Given the description of an element on the screen output the (x, y) to click on. 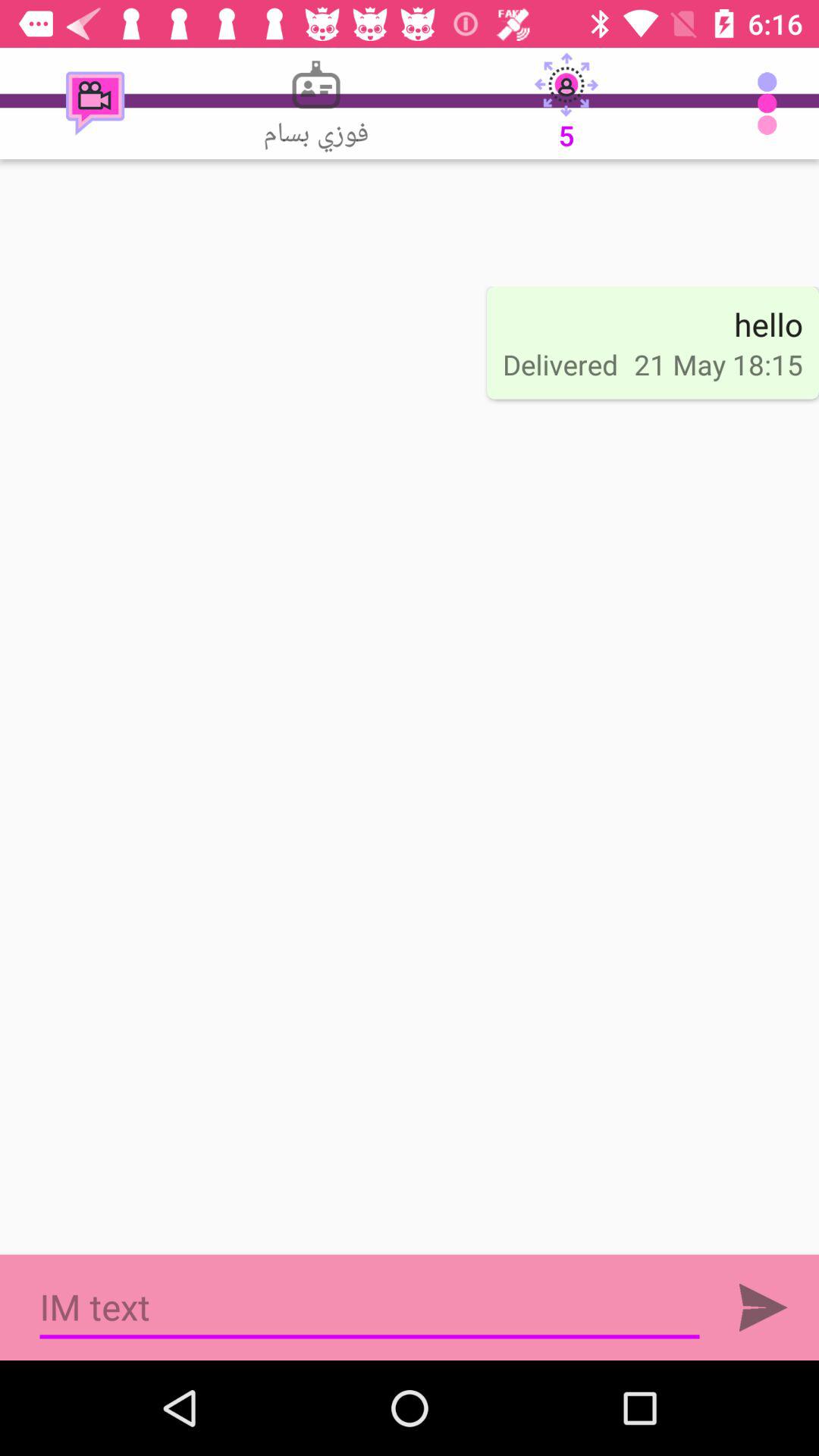
turn off item to the left of the 21 may 18 (560, 364)
